Given the description of an element on the screen output the (x, y) to click on. 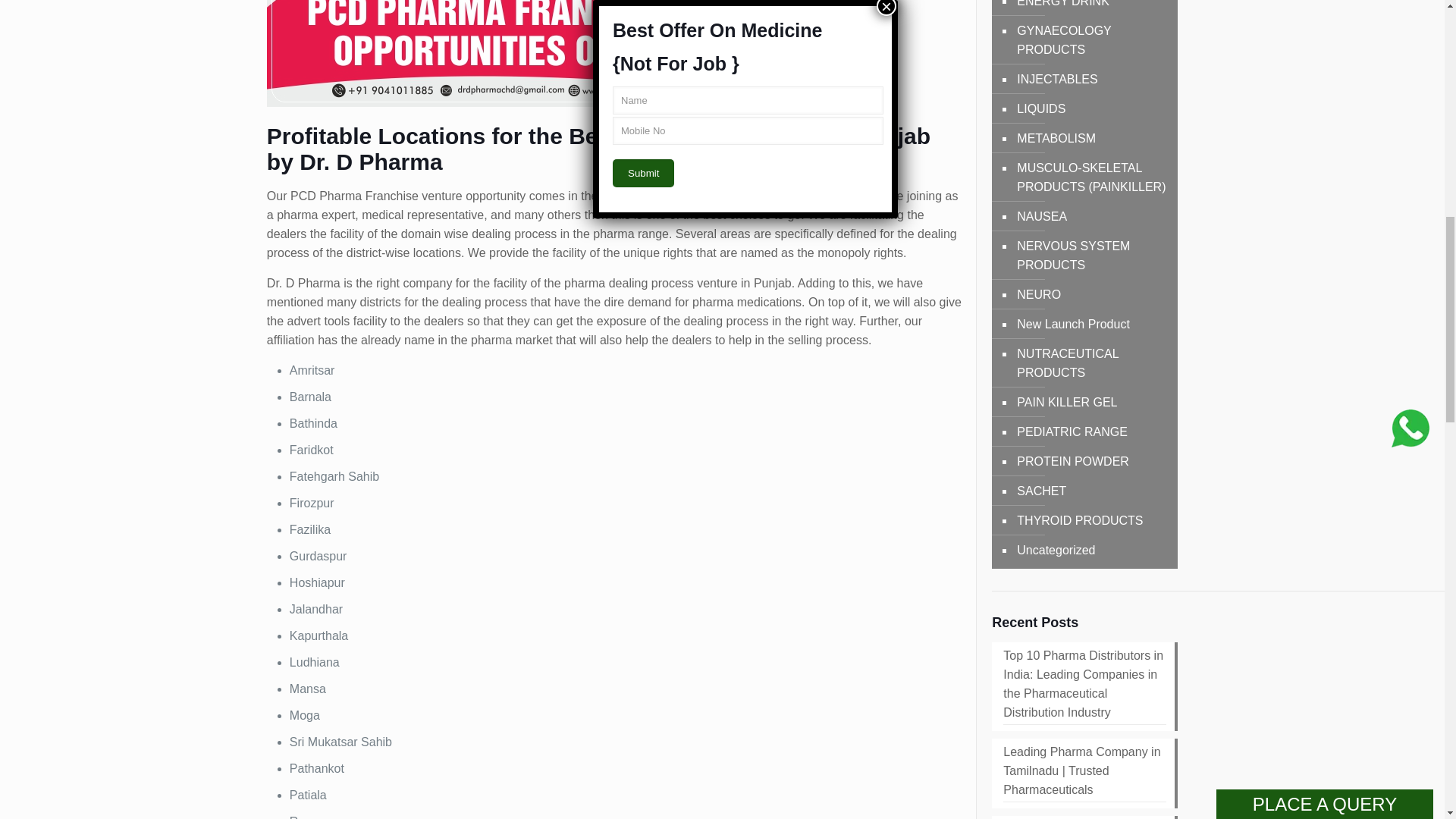
Best Pharma Franchise Company in Punjab 1 (494, 53)
